Given the description of an element on the screen output the (x, y) to click on. 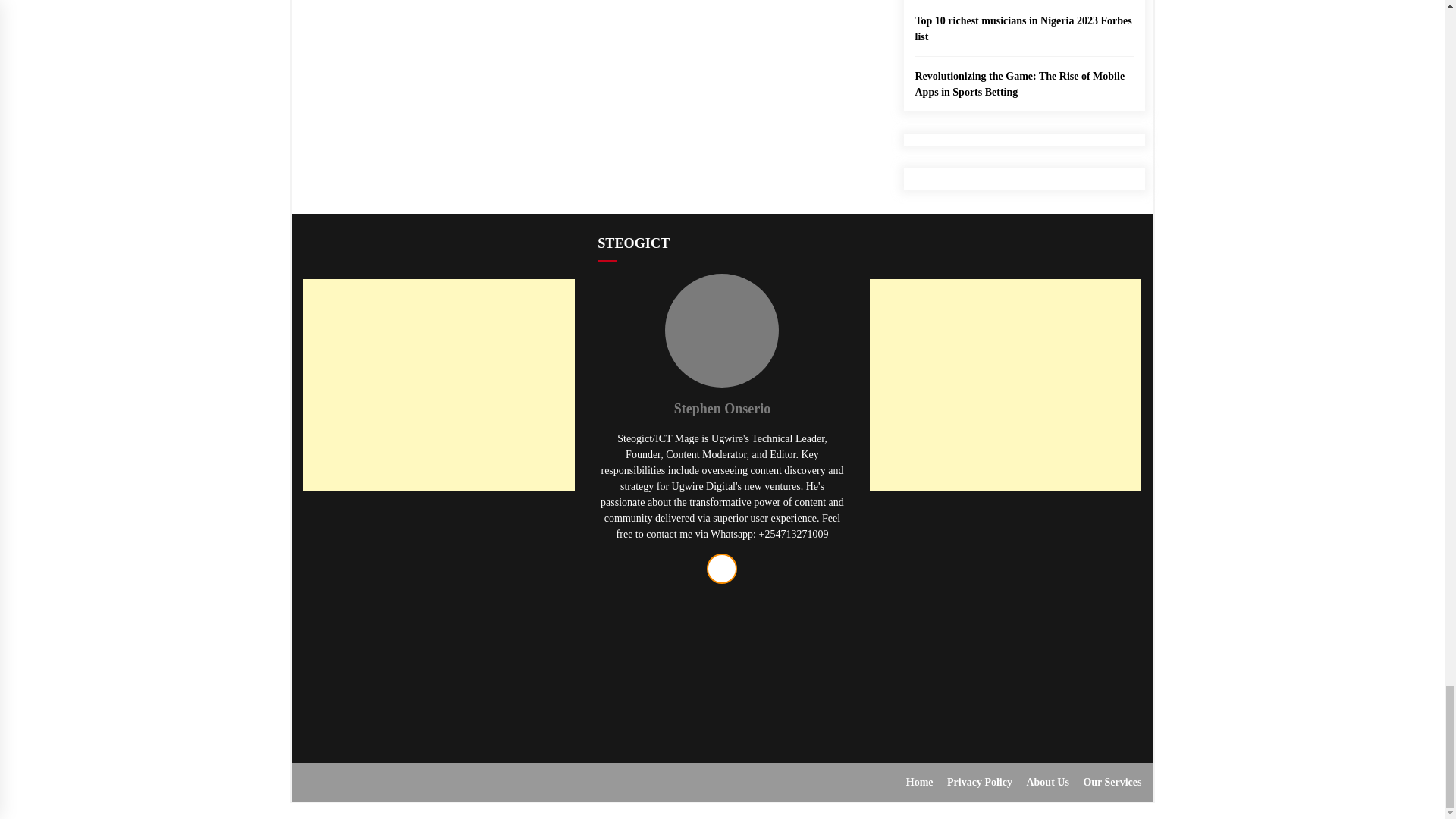
Advertisement (1005, 612)
Top 10 richest musicians in Nigeria 2023 Forbes list (1023, 21)
Advertisement (438, 612)
